Given the description of an element on the screen output the (x, y) to click on. 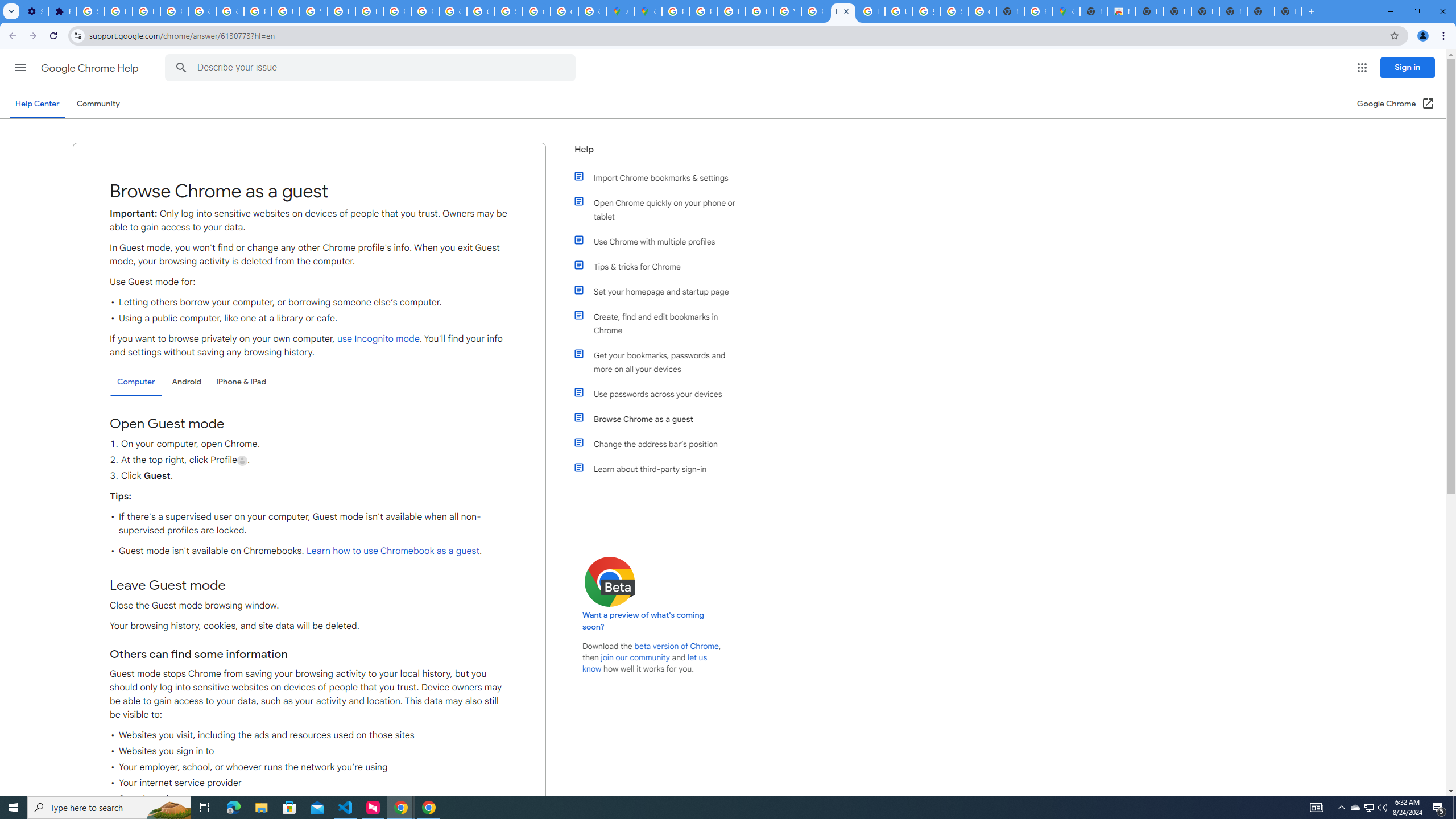
Create, find and edit bookmarks in Chrome (661, 323)
Use Chrome with multiple profiles (661, 241)
Describe your issue (371, 67)
Learn how to use Chromebook as a guest (392, 550)
Computer (136, 382)
Settings - On startup (34, 11)
Profile (242, 460)
YouTube (787, 11)
